Given the description of an element on the screen output the (x, y) to click on. 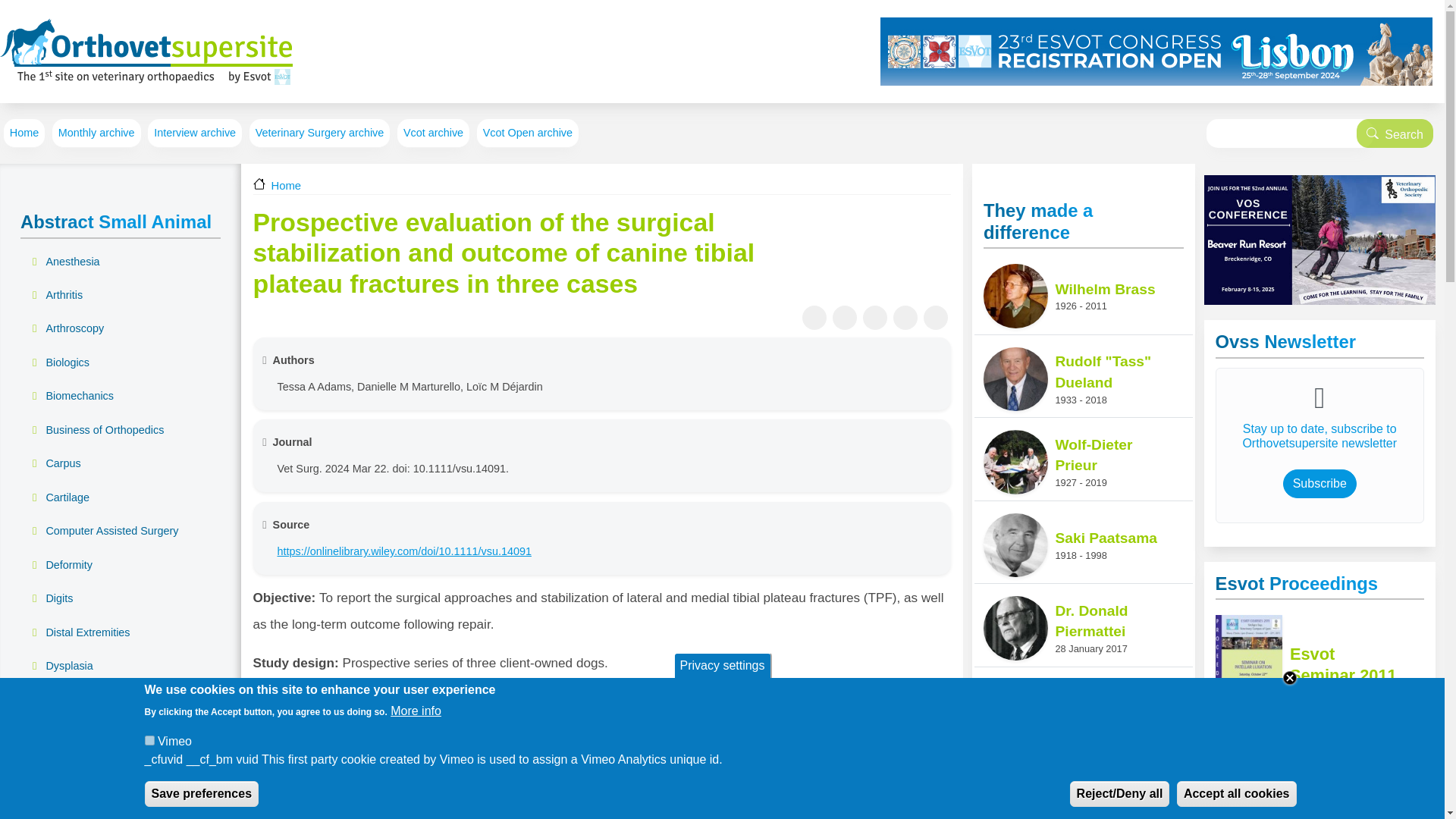
Enter the terms you wish to search for. (1290, 133)
Search (1394, 133)
Vcot Open archive (527, 133)
Subscribe to Orthovetsupersite newsletter (1319, 483)
Monthly archive (96, 133)
Vcot archive (432, 133)
Share to X (844, 317)
Interview archive (194, 133)
Monthly archive (96, 133)
Home (146, 51)
Esvot Lisbon (1156, 51)
Vcot Open archive (527, 133)
Share to Linkedin (905, 317)
Interview archive (194, 133)
Home (24, 133)
